Given the description of an element on the screen output the (x, y) to click on. 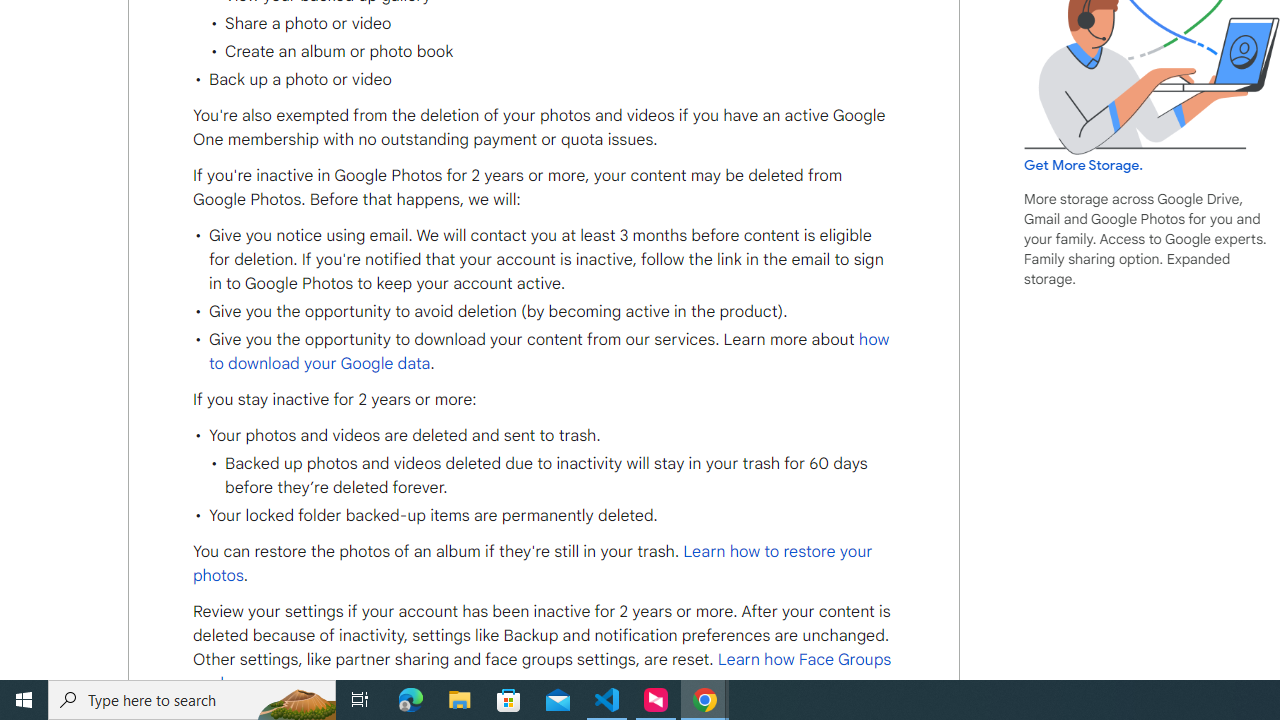
how to download your Google data (548, 351)
Learn how Face Groups works (542, 672)
Get More Storage. (1083, 165)
Learn how to restore your photos (532, 564)
